Given the description of an element on the screen output the (x, y) to click on. 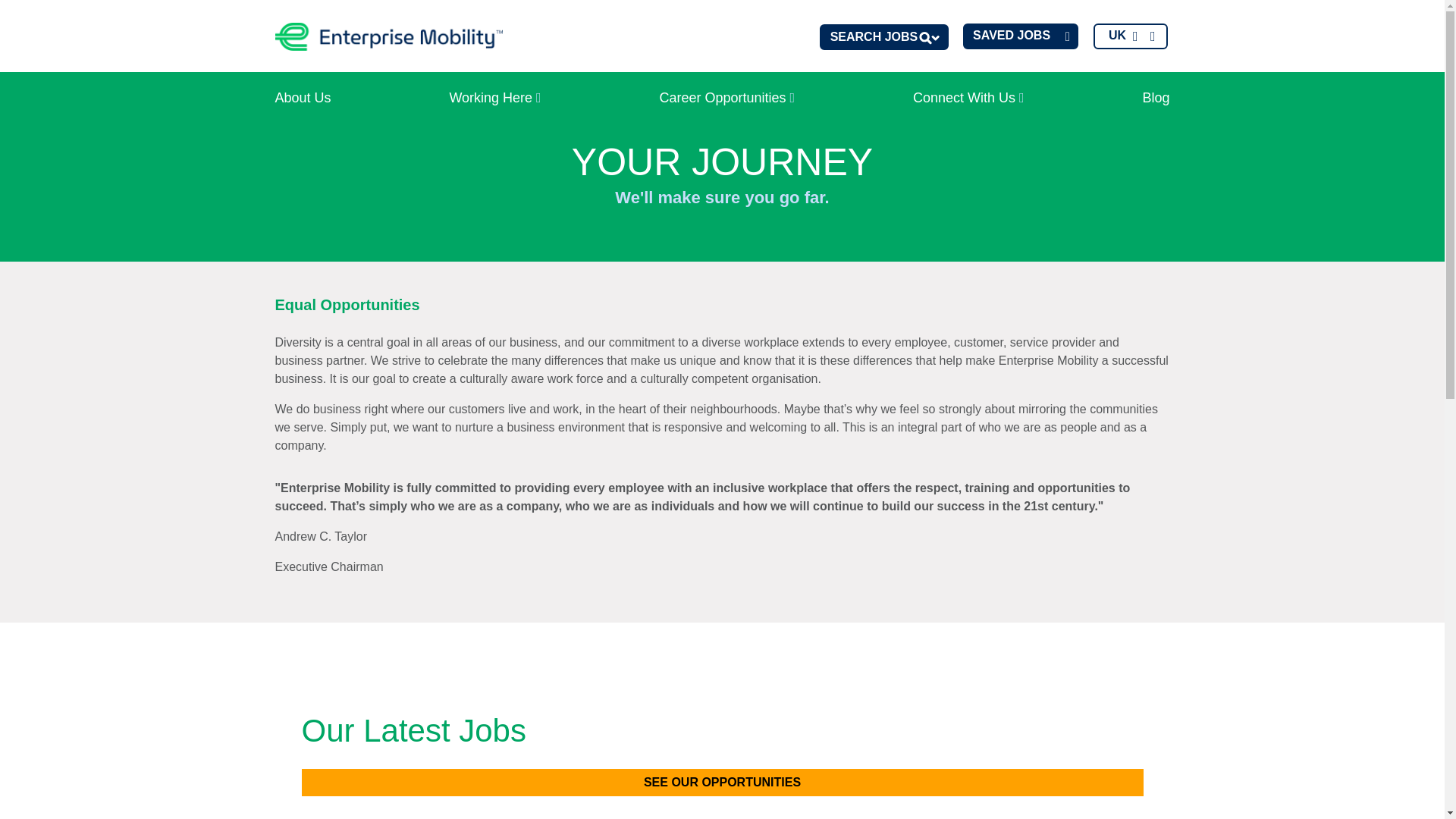
Home (388, 36)
SAVED JOBS (1020, 36)
Working Here  (494, 97)
About Us (301, 97)
Connect With Us  (968, 97)
UK (1130, 36)
SEE OUR OPPORTUNITIES (721, 782)
SEARCH JOBS (884, 36)
Blog (1155, 97)
Career Opportunities  (727, 97)
